Given the description of an element on the screen output the (x, y) to click on. 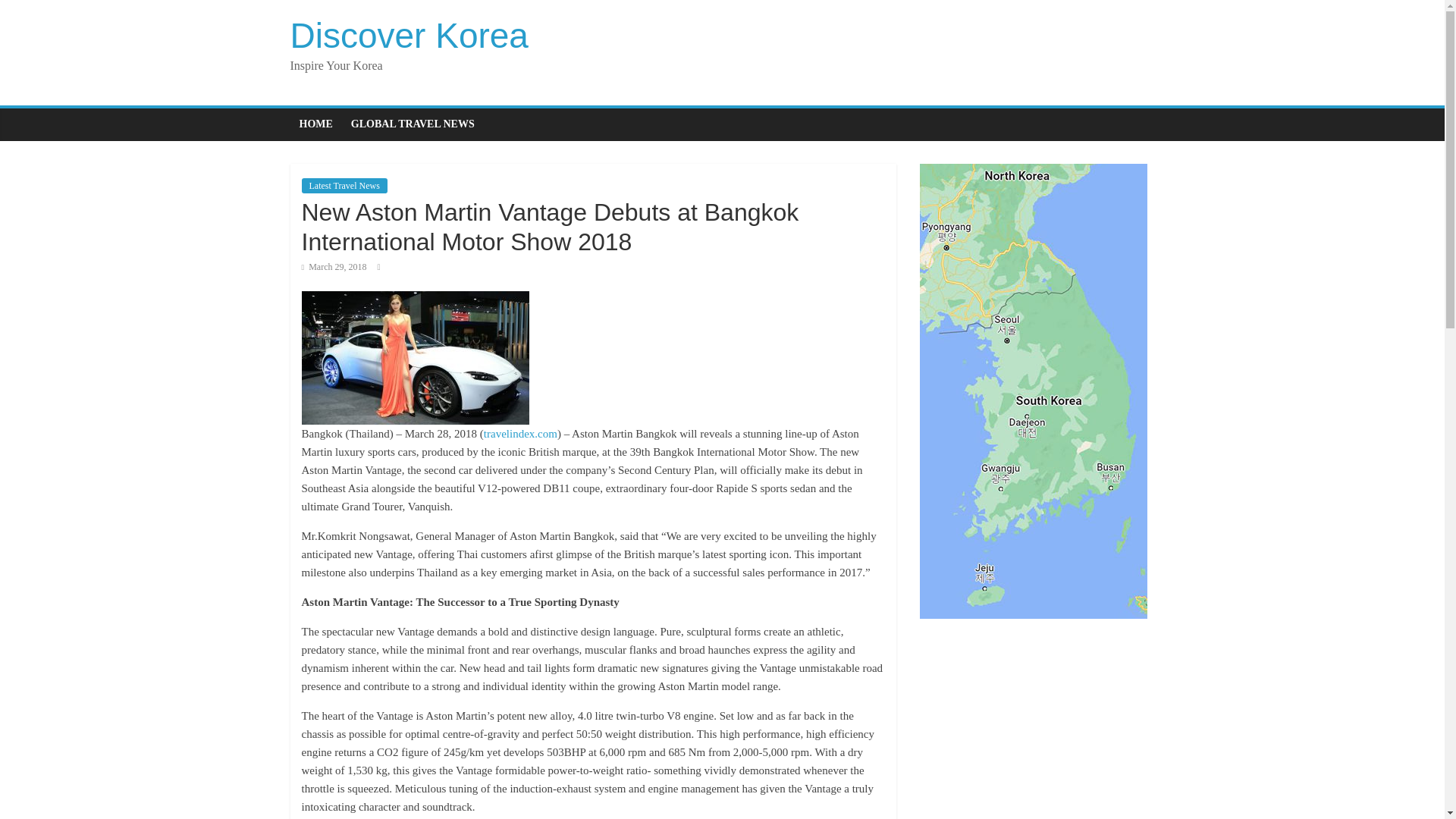
Discover Korea (408, 35)
travelindex-content-marketing 054 (415, 358)
travelindex.com (520, 433)
March 29, 2018 (333, 266)
11:04 am (333, 266)
Latest Travel News (344, 185)
Discover Korea (408, 35)
HOME (314, 124)
GLOBAL TRAVEL NEWS (412, 124)
